Given the description of an element on the screen output the (x, y) to click on. 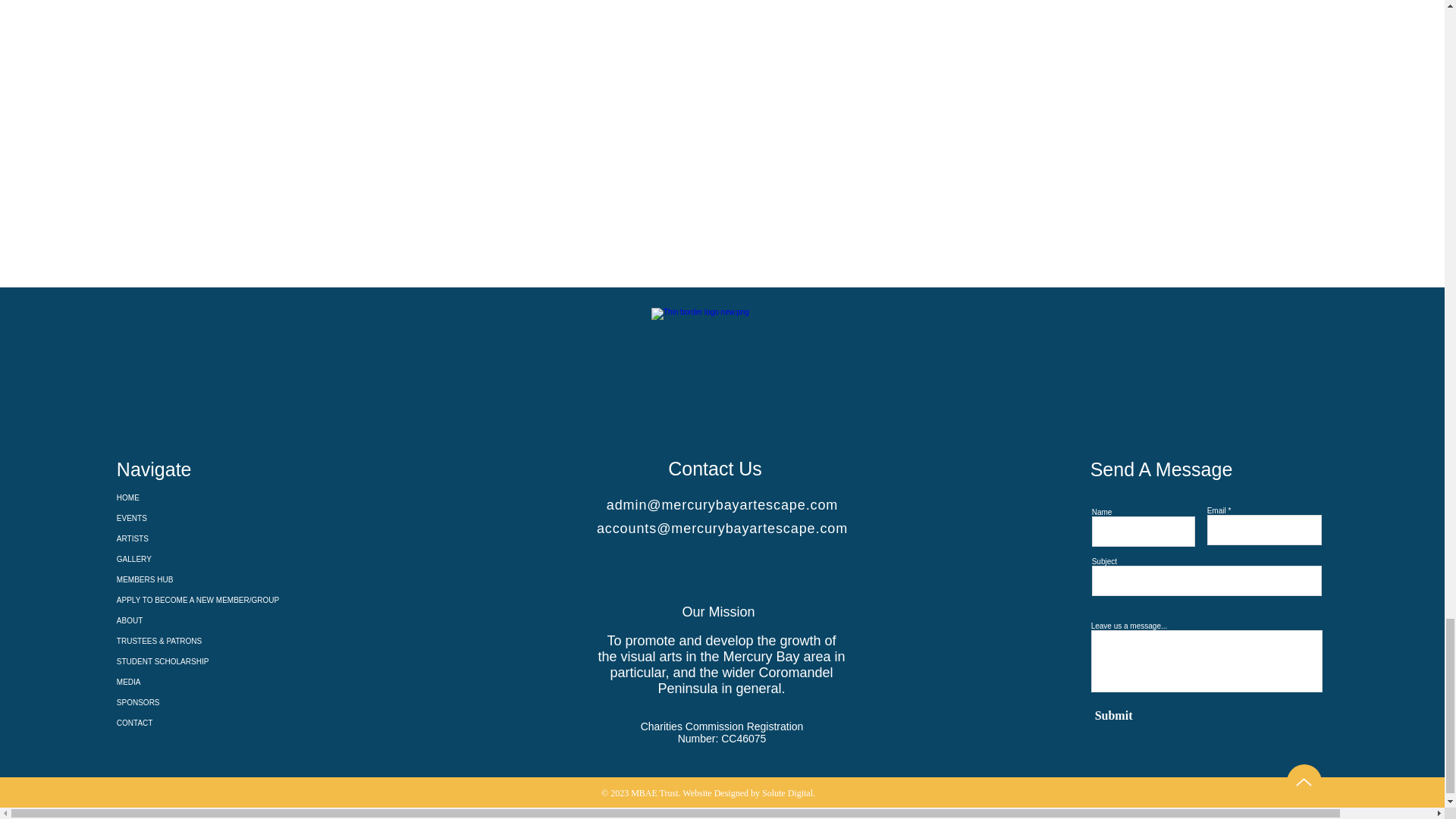
HOME (169, 497)
SPONSORS (169, 702)
STUDENT SCHOLARSHIP (169, 661)
CONTACT (169, 722)
Submit (1188, 715)
EVENTS (169, 517)
ABOUT (169, 620)
GALLERY (169, 558)
MEDIA (169, 681)
ARTISTS (169, 538)
